Given the description of an element on the screen output the (x, y) to click on. 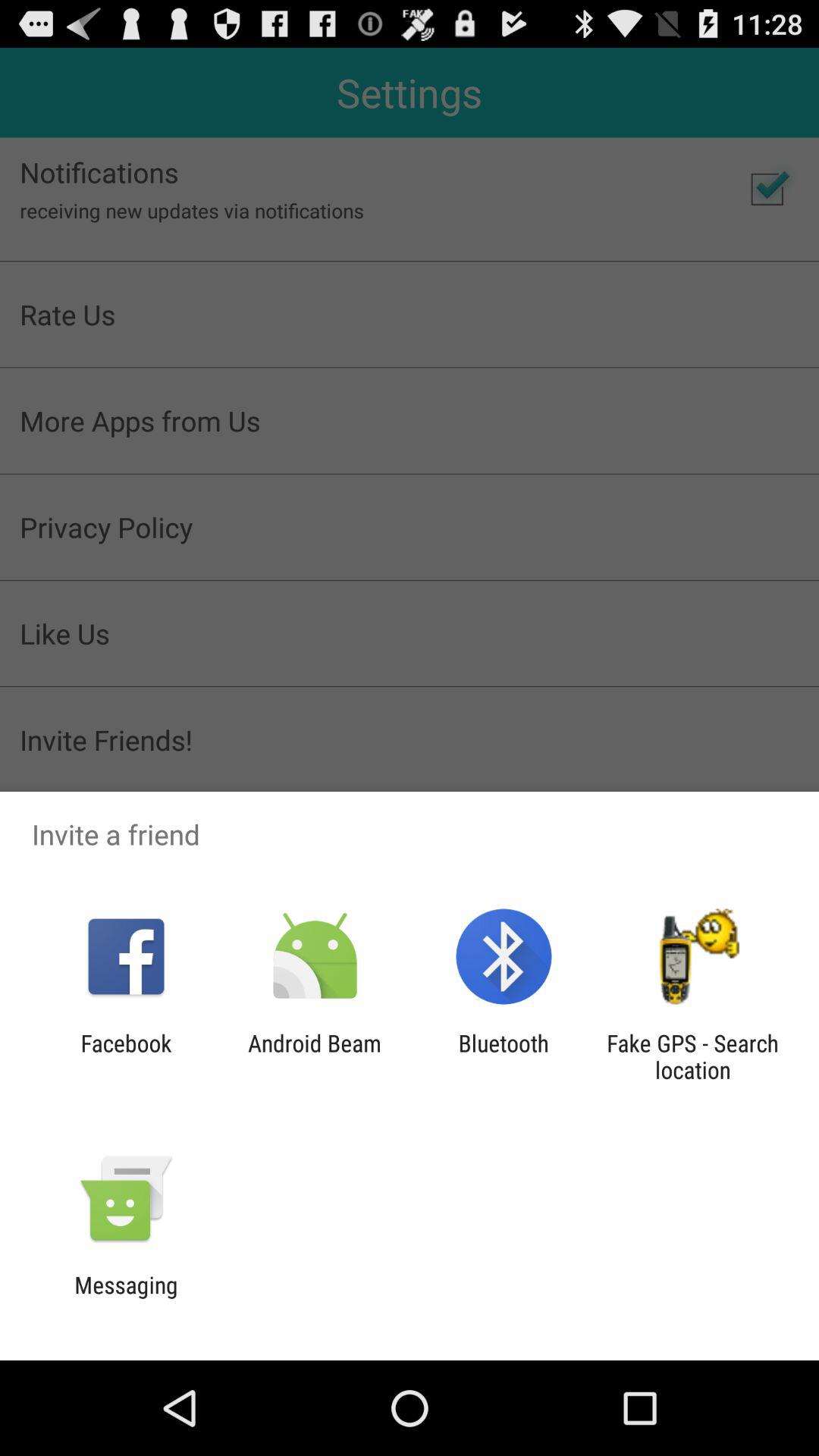
flip to the fake gps search icon (692, 1056)
